Given the description of an element on the screen output the (x, y) to click on. 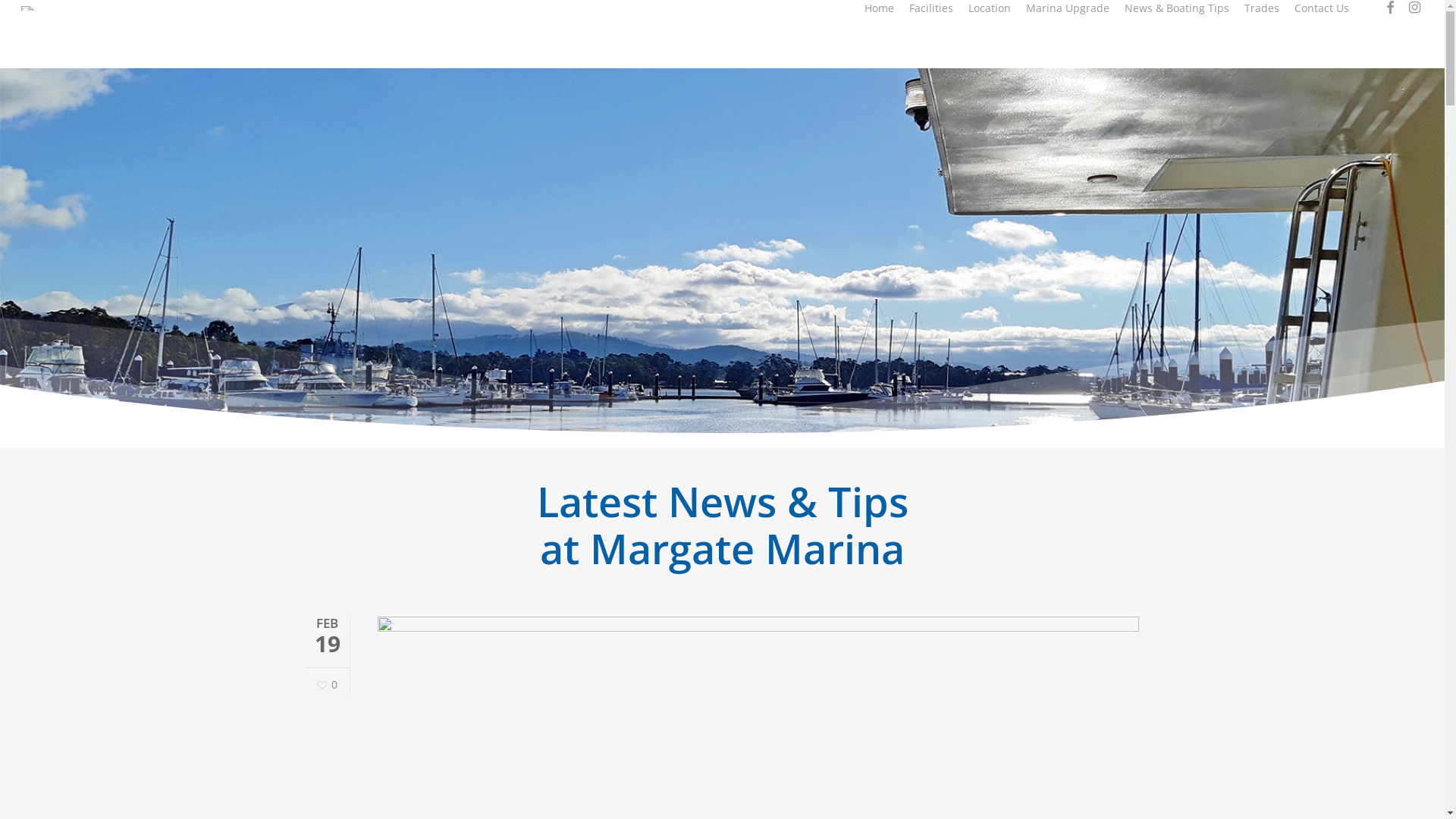
Facilities Element type: text (930, 7)
Contact Us Element type: text (1321, 7)
0 Element type: text (326, 684)
Trades Element type: text (1261, 7)
facebook Element type: text (1389, 8)
Marina Upgrade Element type: text (1067, 7)
Location Element type: text (989, 7)
Home Element type: text (878, 7)
News & Boating Tips Element type: text (1176, 7)
instagram Element type: text (1413, 8)
